Given the description of an element on the screen output the (x, y) to click on. 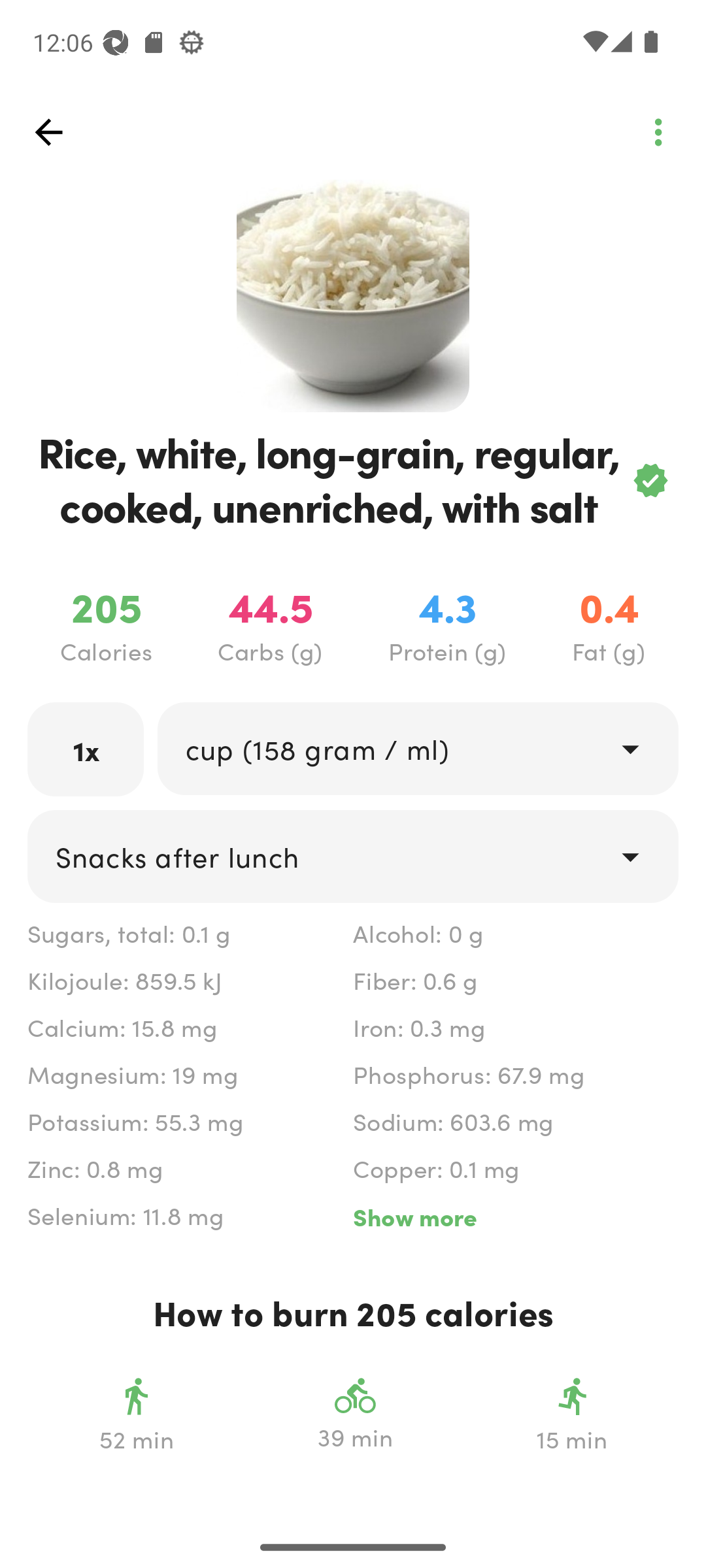
top_left_action (48, 132)
top_left_action (658, 132)
1x labeled_edit_text (85, 749)
drop_down cup (158 gram / ml) (417, 748)
drop_down Snacks after lunch (352, 856)
Show more (515, 1216)
